Given the description of an element on the screen output the (x, y) to click on. 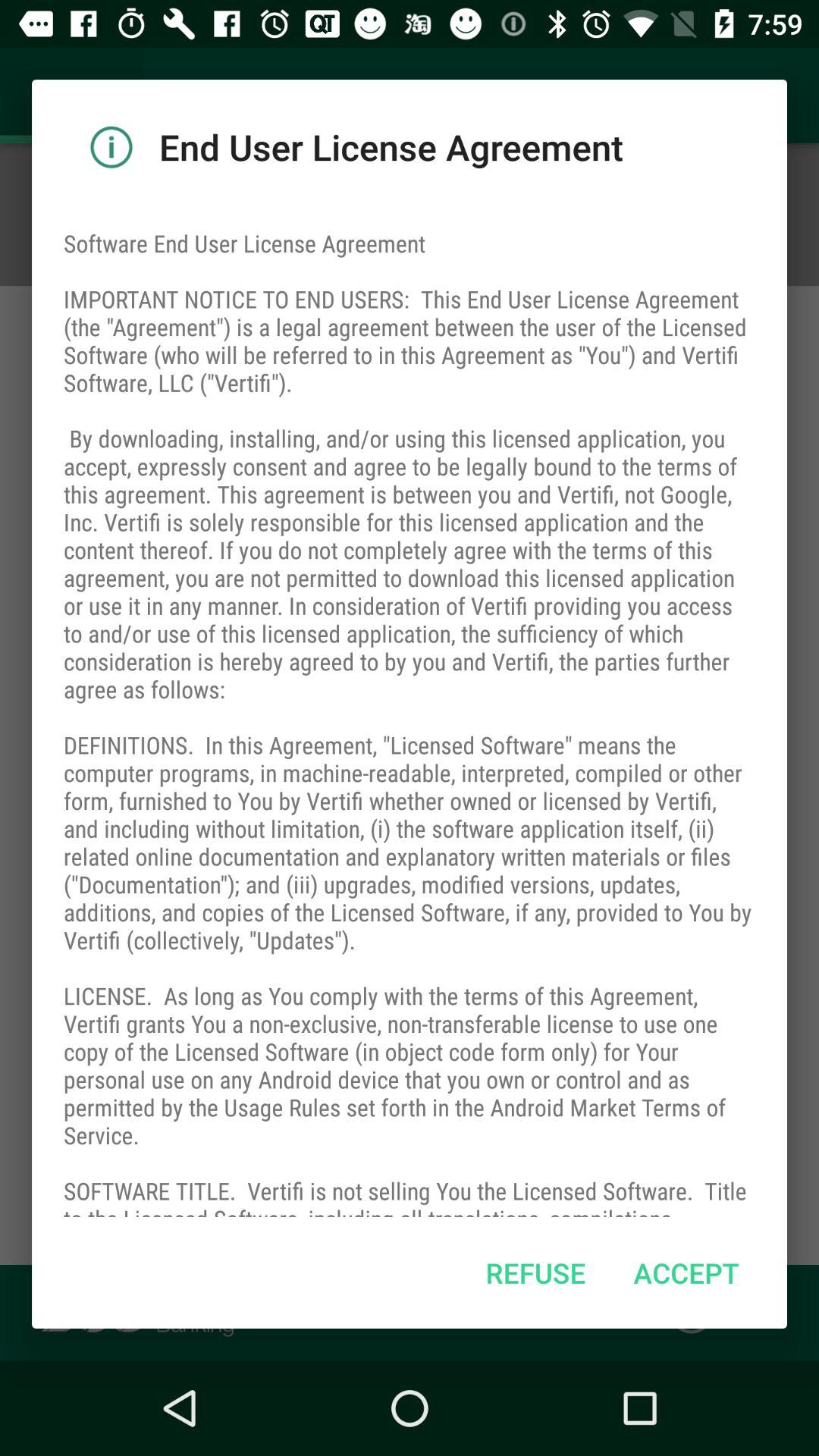
turn on the refuse at the bottom (535, 1272)
